Given the description of an element on the screen output the (x, y) to click on. 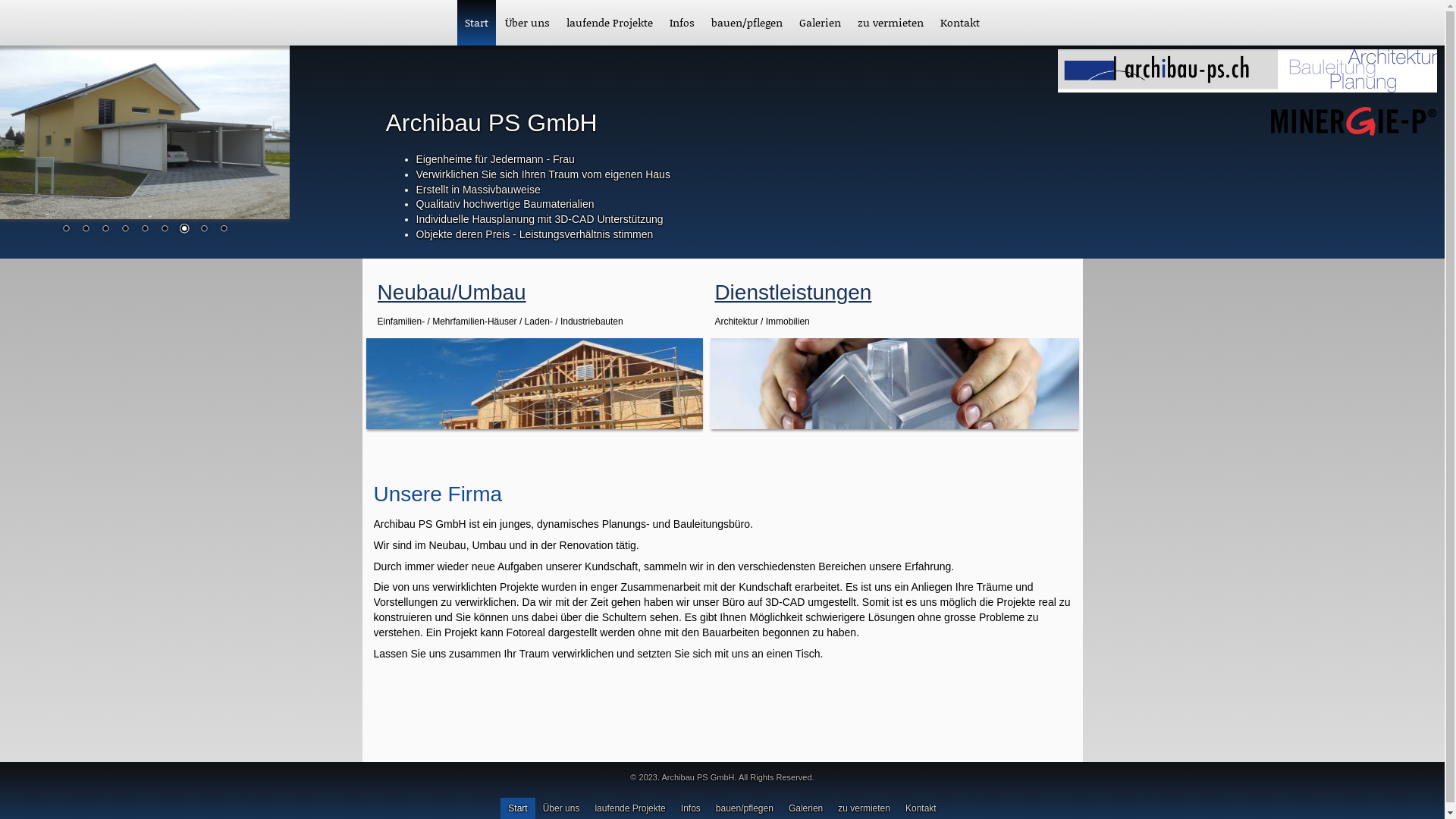
bauen/pflegen Element type: text (746, 22)
zu vermieten Element type: text (890, 22)
1 Element type: text (65, 229)
Kontakt Element type: text (959, 22)
Dienstleistungen Element type: text (792, 292)
4 Element type: text (124, 229)
8 Element type: text (203, 229)
2 Element type: text (85, 229)
laufende Projekte Element type: text (609, 22)
7 Element type: text (183, 229)
Start Element type: text (476, 22)
9 Element type: text (223, 229)
3 Element type: text (105, 229)
Neubau/Umbau Element type: text (451, 292)
5 Element type: text (144, 229)
Galerien Element type: text (819, 22)
6 Element type: text (164, 229)
Infos Element type: text (682, 22)
